Given the description of an element on the screen output the (x, y) to click on. 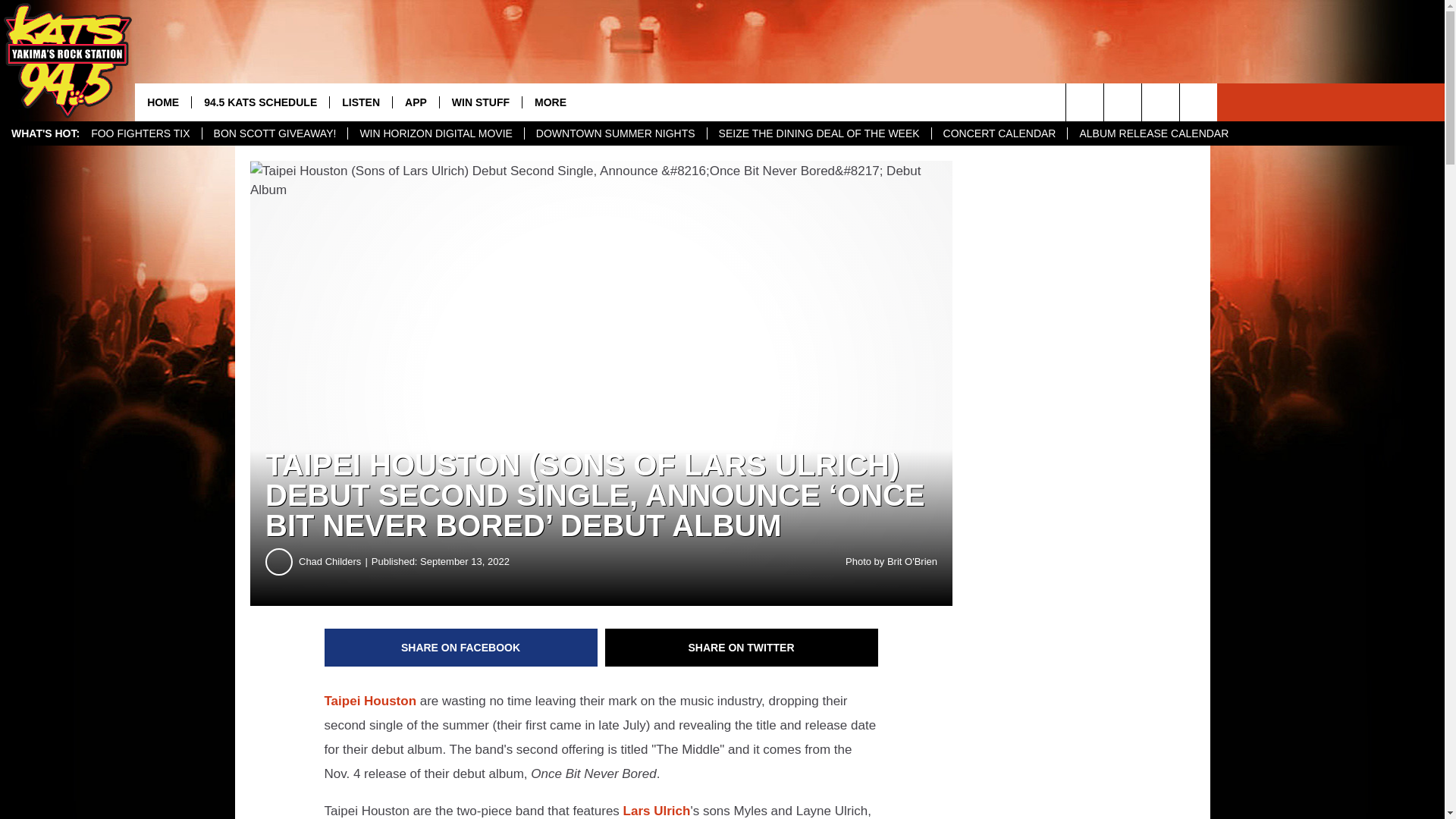
MORE (549, 102)
WIN HORIZON DIGITAL MOVIE (434, 133)
LISTEN (360, 102)
94.5 KATS SCHEDULE (259, 102)
DOWNTOWN SUMMER NIGHTS (615, 133)
CONCERT CALENDAR (999, 133)
WIN STUFF (480, 102)
SEIZE THE DINING DEAL OF THE WEEK (818, 133)
ALBUM RELEASE CALENDAR (1153, 133)
APP (415, 102)
BON SCOTT GIVEAWAY! (274, 133)
HOME (162, 102)
Share on Twitter (741, 647)
FOO FIGHTERS TIX (140, 133)
Share on Facebook (460, 647)
